Given the description of an element on the screen output the (x, y) to click on. 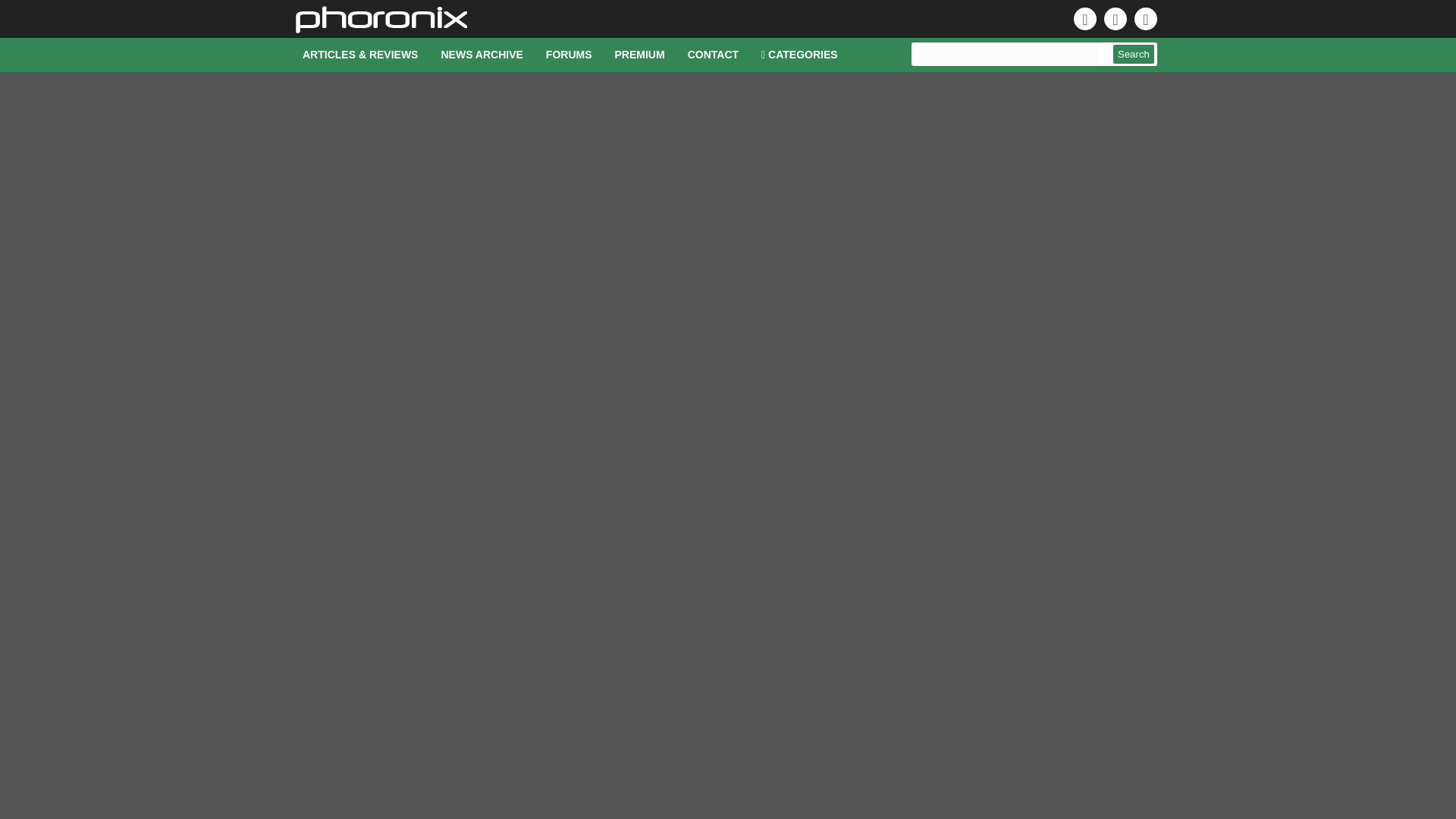
Search (1133, 54)
PREMIUM (640, 54)
Search (1133, 54)
NEWS ARCHIVE (481, 54)
CONTACT (713, 54)
FORUMS (569, 54)
